Given the description of an element on the screen output the (x, y) to click on. 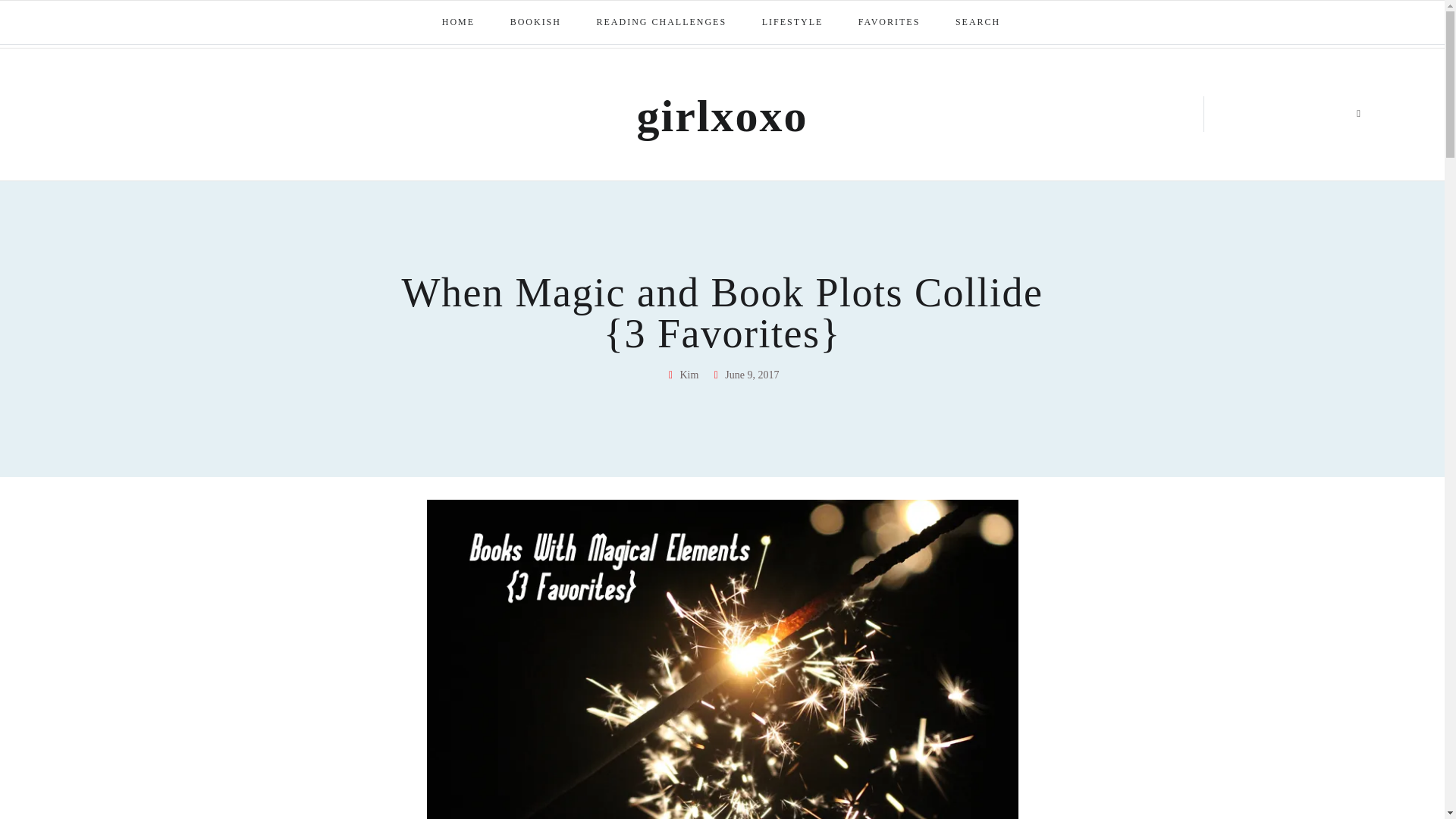
LIFESTYLE (793, 22)
Kim (681, 375)
June 9, 2017 (744, 375)
FAVORITES (890, 22)
HOME (459, 22)
BOOKISH (536, 22)
SEARCH (978, 22)
girlxoxo (722, 115)
READING CHALLENGES (662, 22)
